Given the description of an element on the screen output the (x, y) to click on. 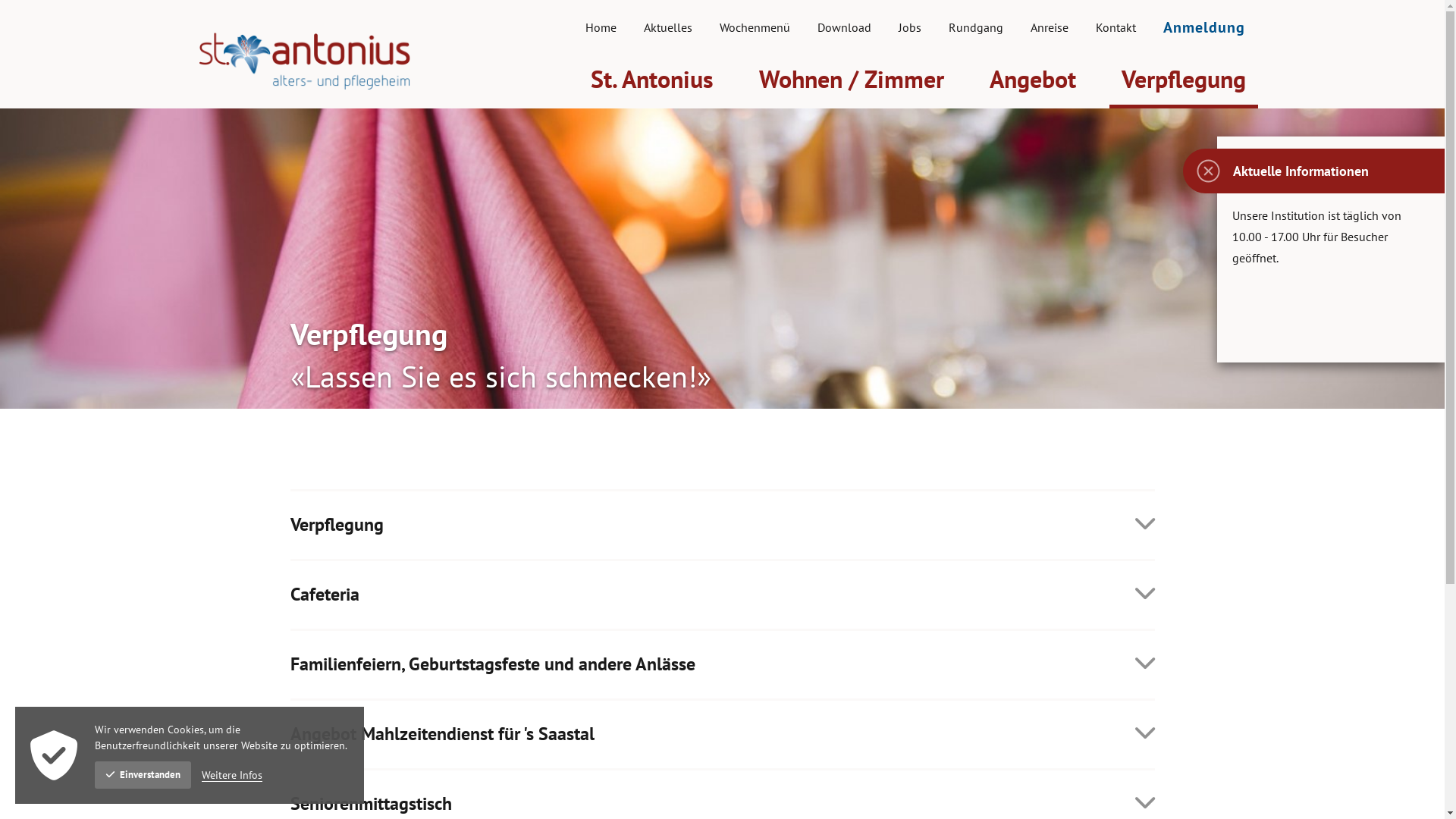
Wohnen / Zimmer Element type: text (850, 78)
Home Element type: text (600, 26)
Kontakt Element type: text (1115, 26)
Download Element type: text (844, 26)
Weitere Infos Element type: text (231, 775)
Verpflegung Element type: text (1182, 78)
Jobs Element type: text (909, 26)
Aktuelles Element type: text (667, 26)
Anmeldung Element type: text (1204, 27)
St. Antonius Element type: text (650, 78)
Rundgang Element type: text (975, 26)
Einverstanden Element type: text (142, 774)
Angebot Element type: text (1031, 78)
Anreise Element type: text (1049, 26)
